Given the description of an element on the screen output the (x, y) to click on. 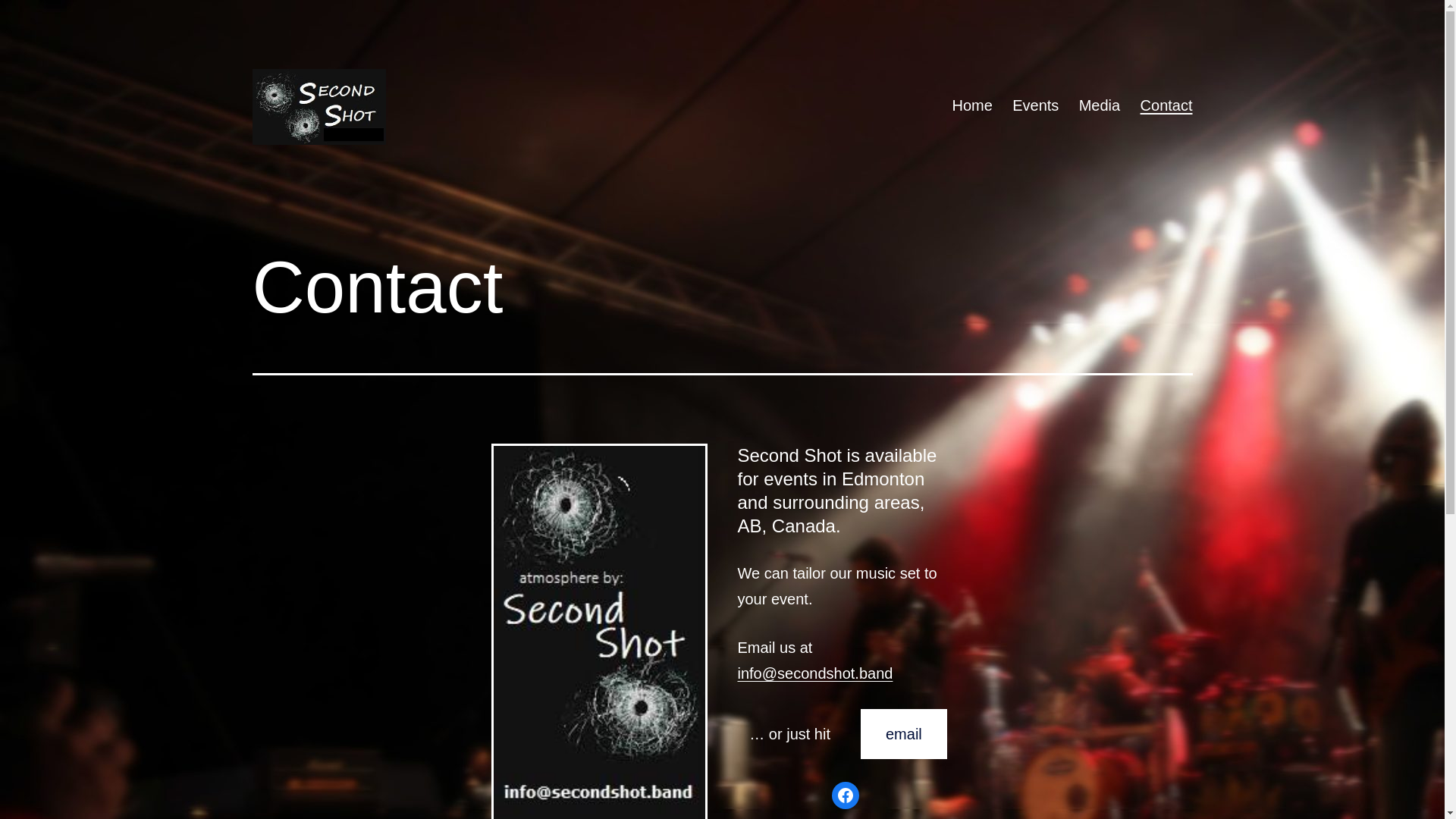
Contact Element type: text (1165, 104)
Media Element type: text (1099, 104)
info@secondshot.band Element type: text (814, 673)
Events Element type: text (1035, 104)
Home Element type: text (971, 104)
Facebook Element type: text (845, 795)
email Element type: text (903, 734)
